Given the description of an element on the screen output the (x, y) to click on. 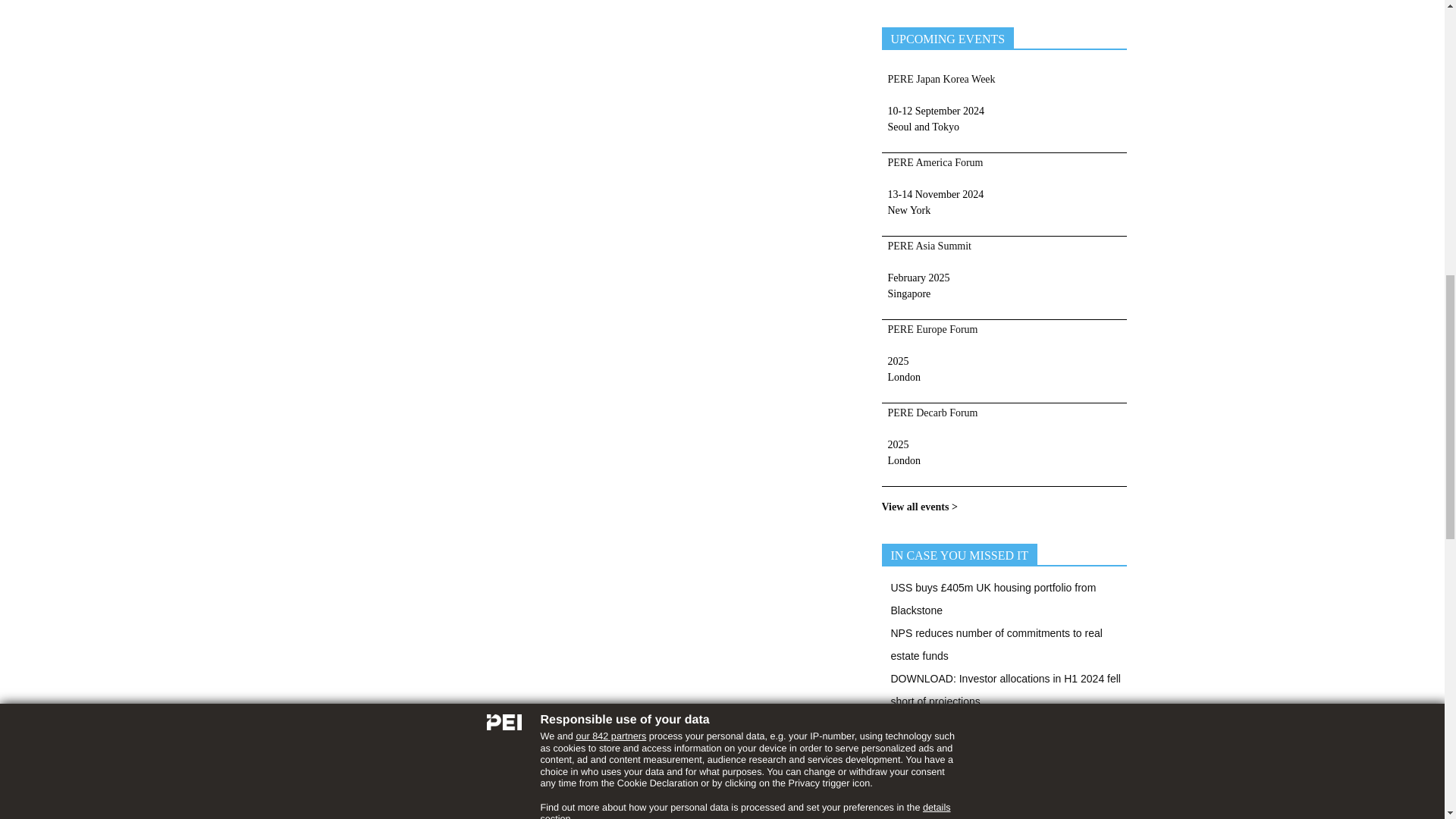
details section (745, 2)
Allow selection (821, 116)
Settings (913, 141)
Allow all cookies (915, 116)
